Given the description of an element on the screen output the (x, y) to click on. 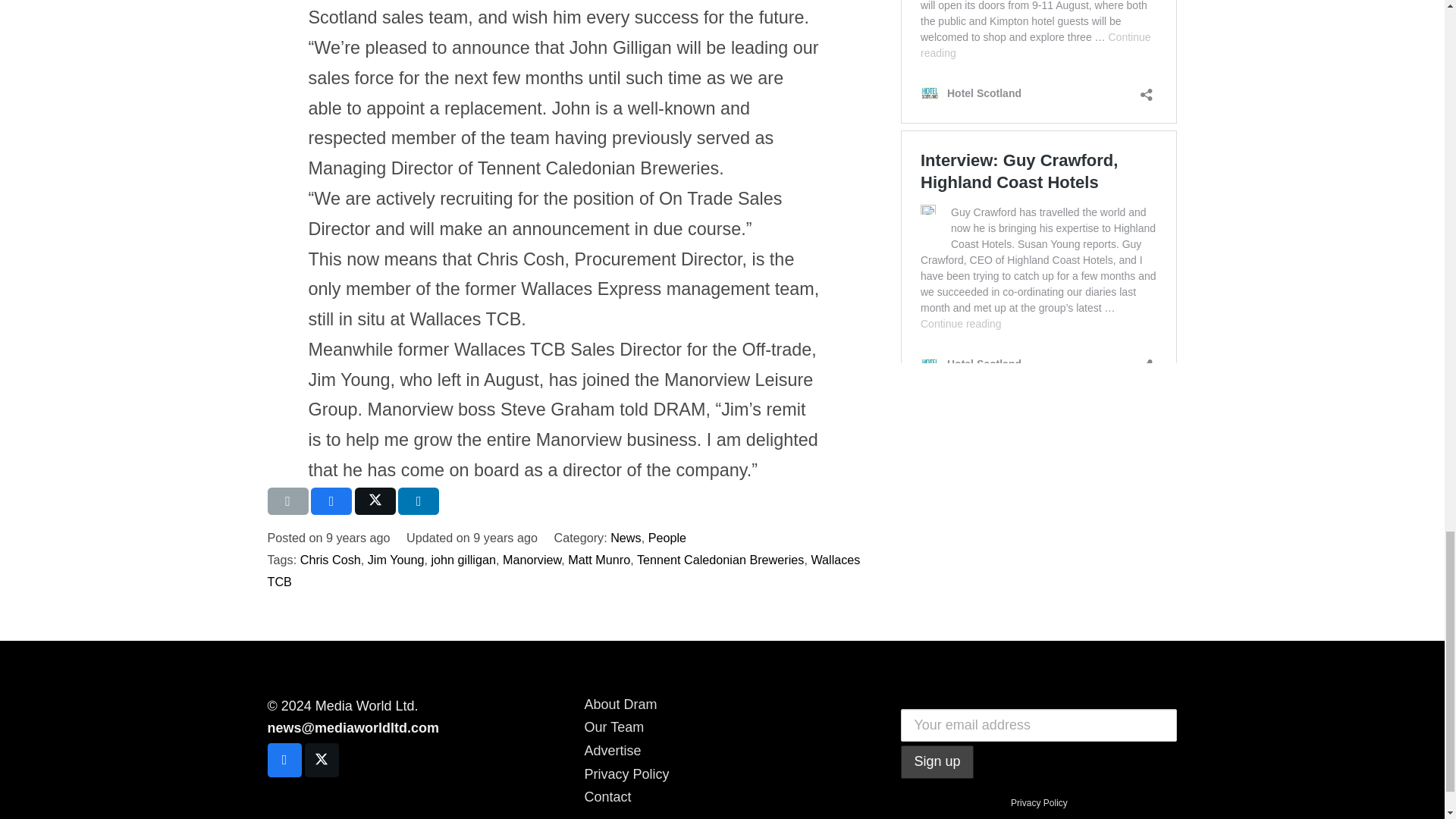
Chris Cosh (330, 559)
Facebook (283, 759)
Twitter (321, 759)
Jim Young (396, 559)
Email this (286, 501)
Manorview (531, 559)
People (666, 537)
News (625, 537)
Tennent Caledonian Breweries (720, 559)
Matt Munro (598, 559)
